Given the description of an element on the screen output the (x, y) to click on. 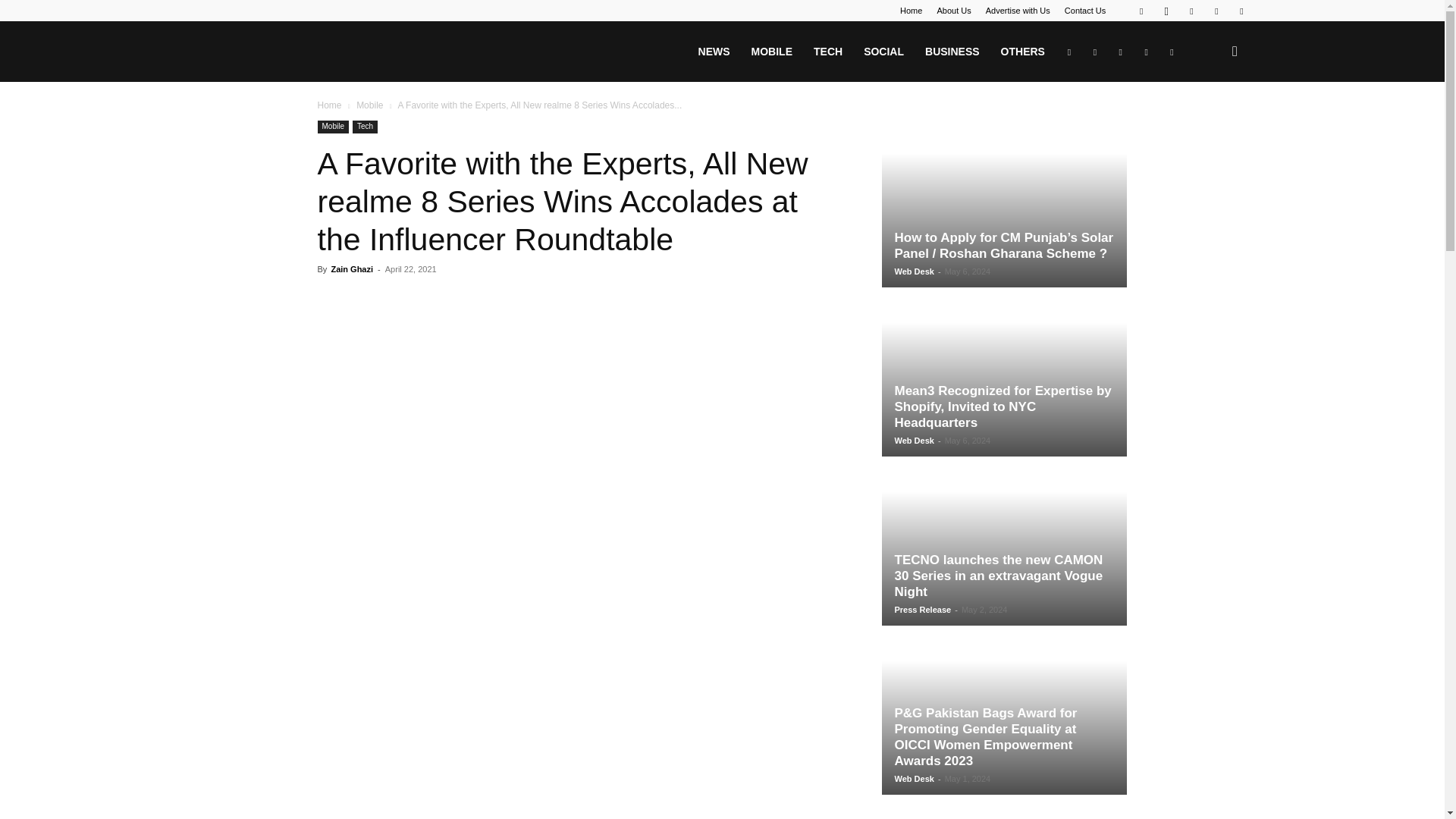
Facebook (1141, 10)
Youtube (1241, 10)
About Us (953, 10)
Instagram (1165, 10)
Advertise with Us (1017, 10)
Pinterest (1190, 10)
Twitter (1216, 10)
Home (910, 10)
Contact Us (1084, 10)
